Given the description of an element on the screen output the (x, y) to click on. 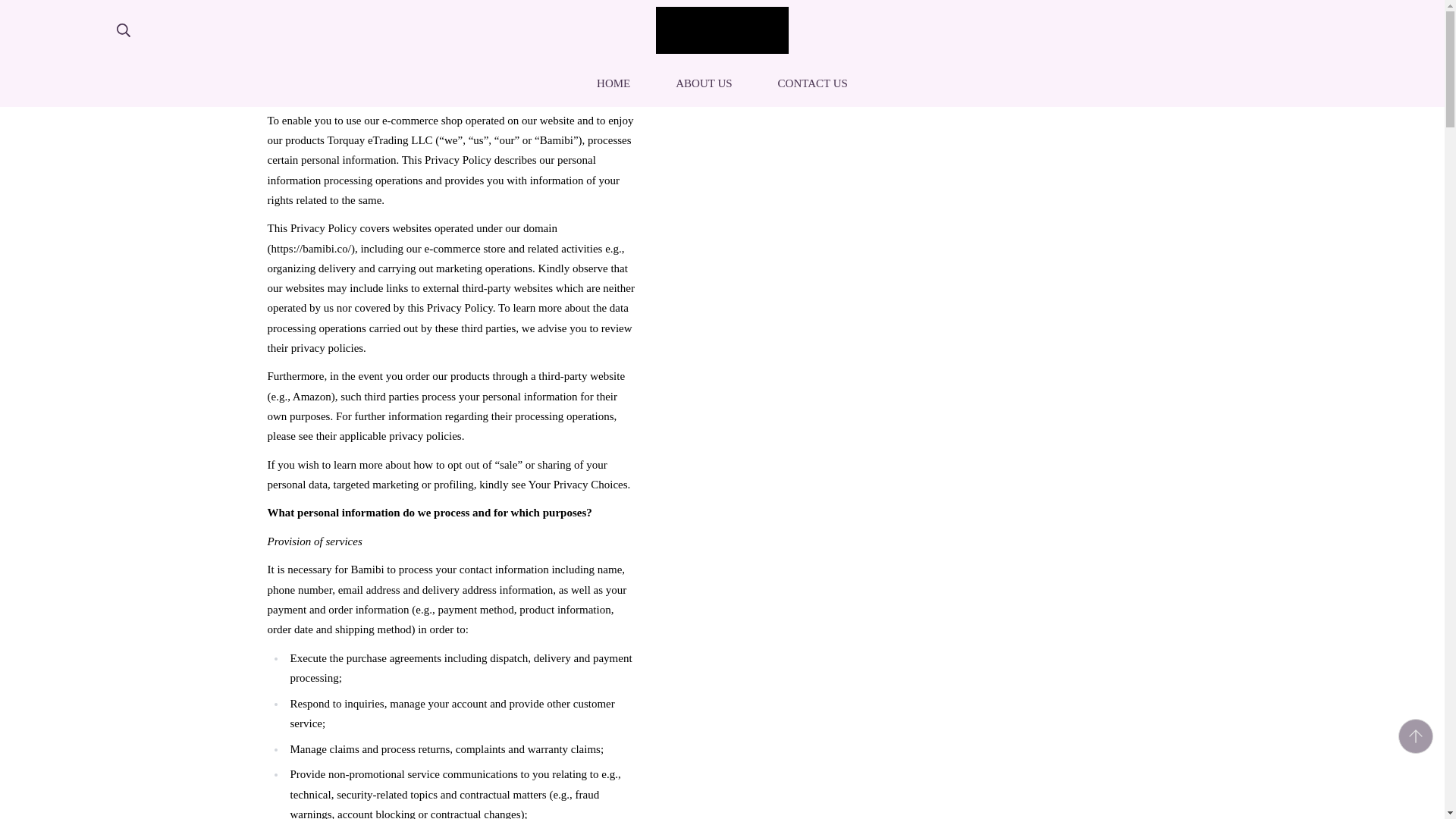
Bamibi.store (722, 30)
CONTACT US (722, 84)
Back to the home page (812, 84)
HOME (673, 54)
Home (612, 84)
ABOUT US (673, 54)
